Given the description of an element on the screen output the (x, y) to click on. 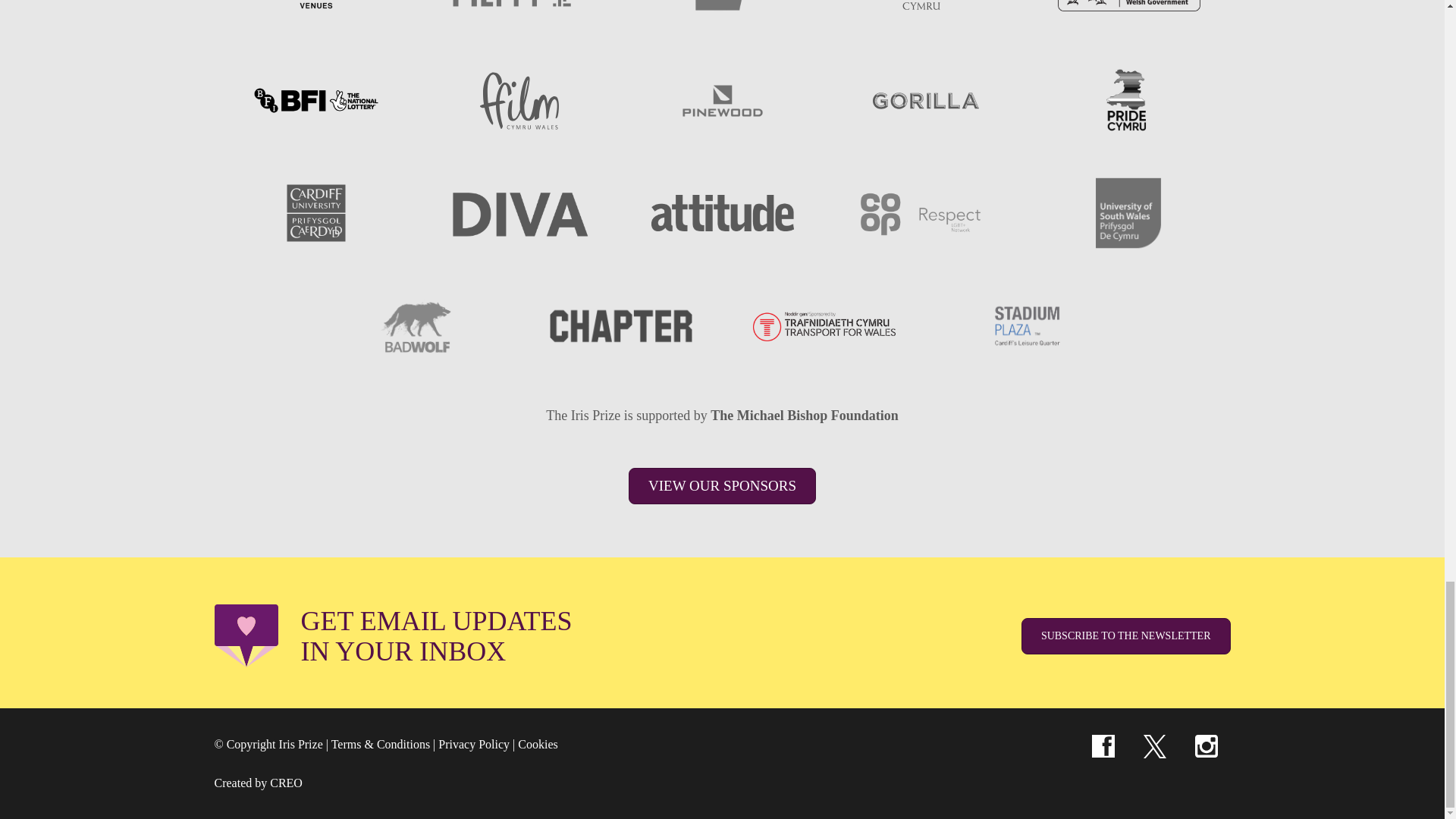
S4C (721, 12)
Co-op (924, 212)
Gorilla (924, 100)
Pinewood (721, 100)
Attitude (721, 212)
Cardiff University (315, 212)
DIVA (517, 212)
Pride Cymru (1128, 100)
BAFTA Cymru (924, 12)
Welsh Government (1128, 12)
University of South Wales (1128, 212)
Transport For Wales (823, 325)
Film4 (517, 12)
Ministry Venues (315, 12)
Bad Wolf (416, 325)
